Given the description of an element on the screen output the (x, y) to click on. 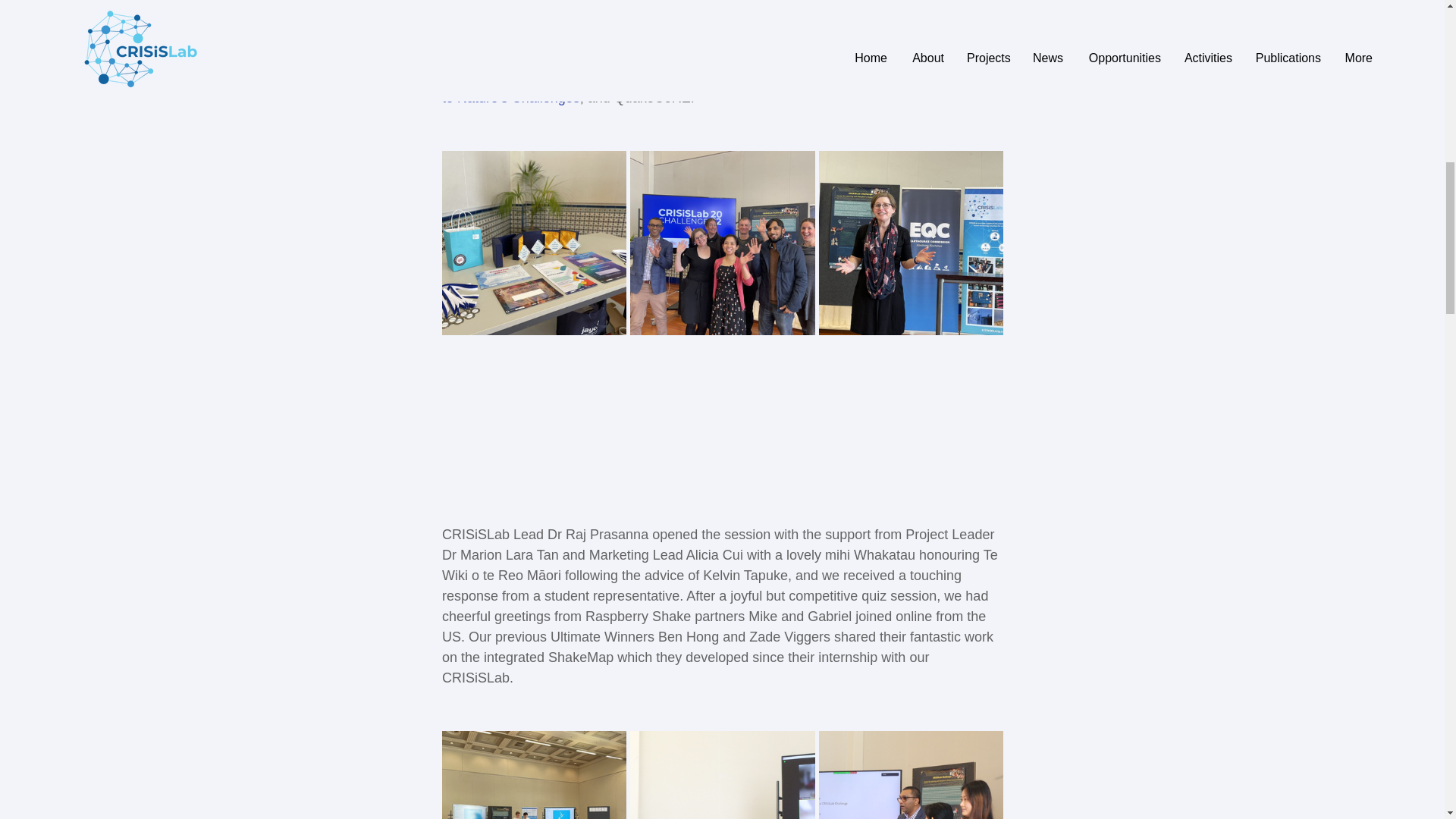
original hands-on competition (656, 1)
